Given the description of an element on the screen output the (x, y) to click on. 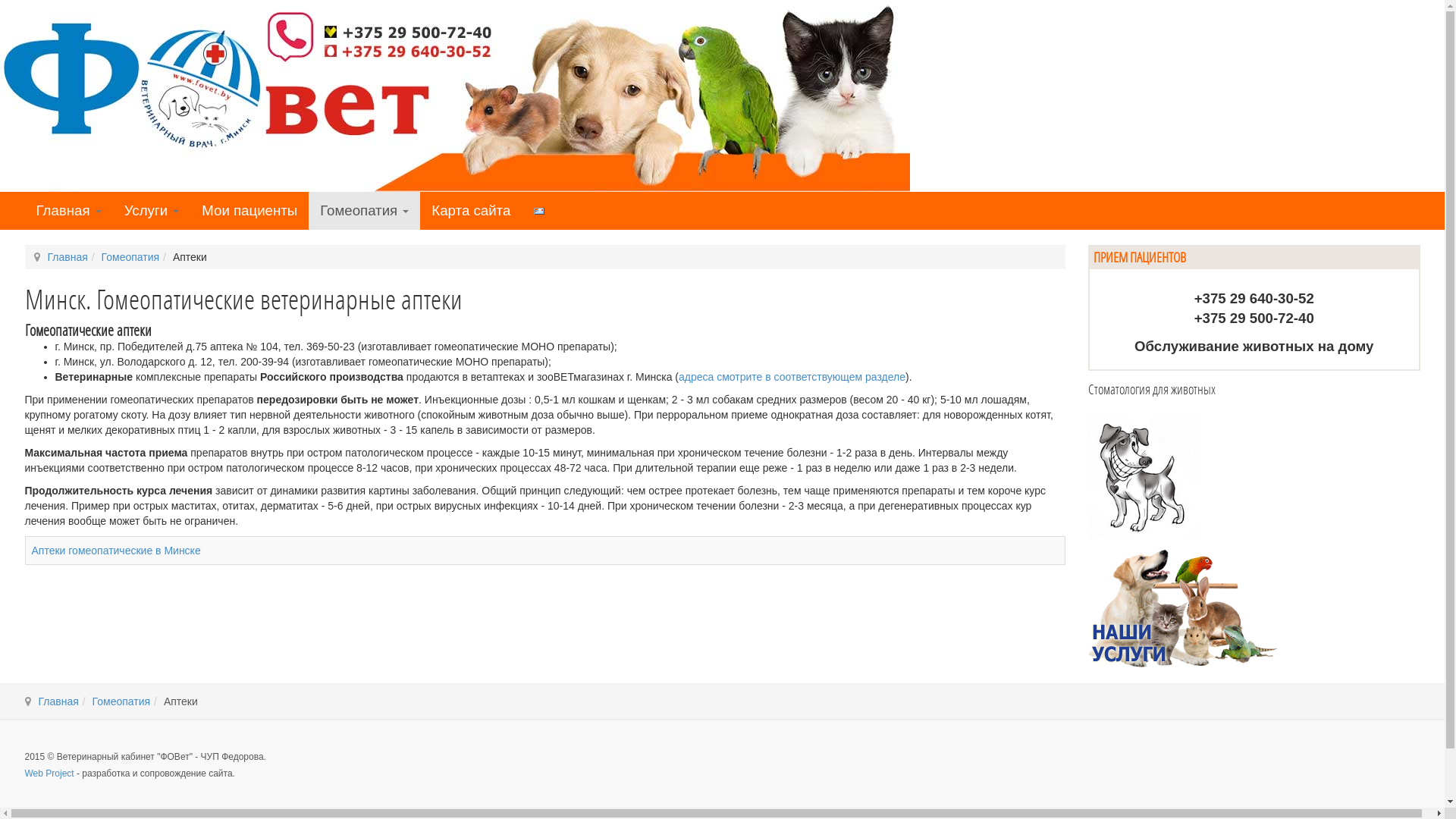
Web Project Element type: text (48, 773)
